Given the description of an element on the screen output the (x, y) to click on. 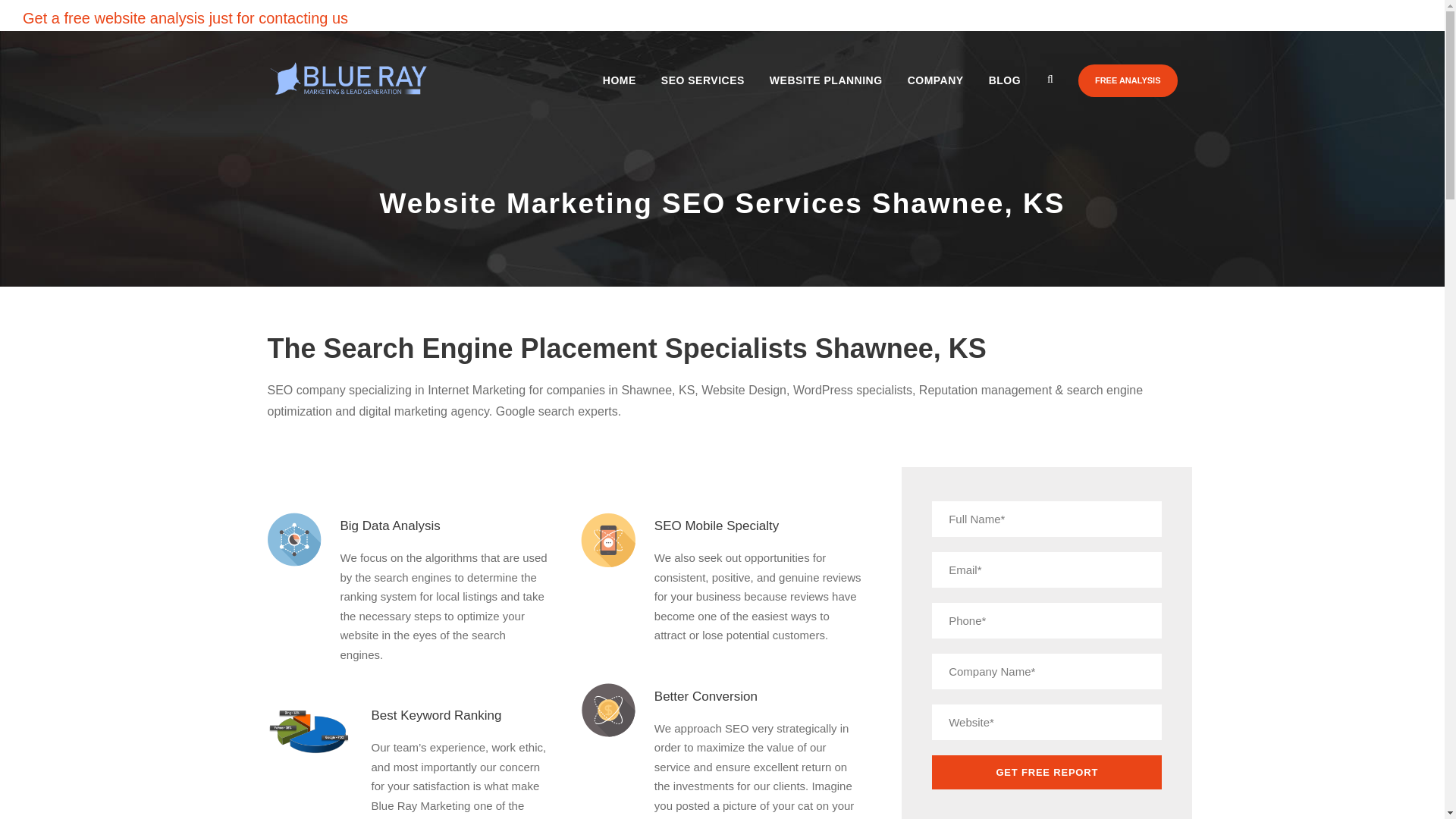
Get Free Report (1046, 772)
About our Internet Marketing Company (929, 94)
